Given the description of an element on the screen output the (x, y) to click on. 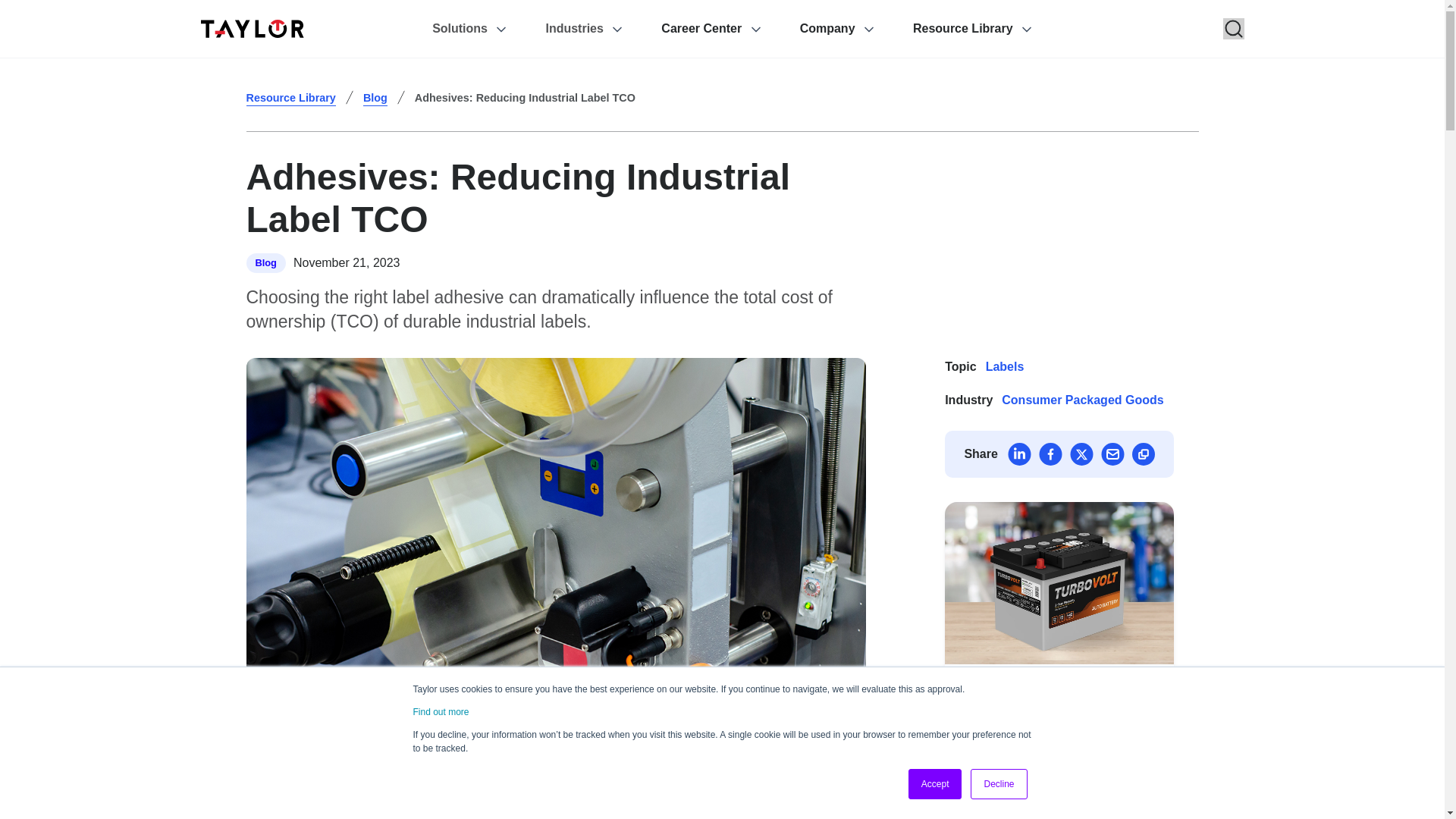
Find out more (440, 711)
Mail article (1112, 454)
Share article on Facebook (1050, 454)
Share article on LinkedIn (1018, 454)
Solutions (488, 28)
Accept (935, 784)
Share article on Twitter (1081, 454)
Decline (998, 784)
